Given the description of an element on the screen output the (x, y) to click on. 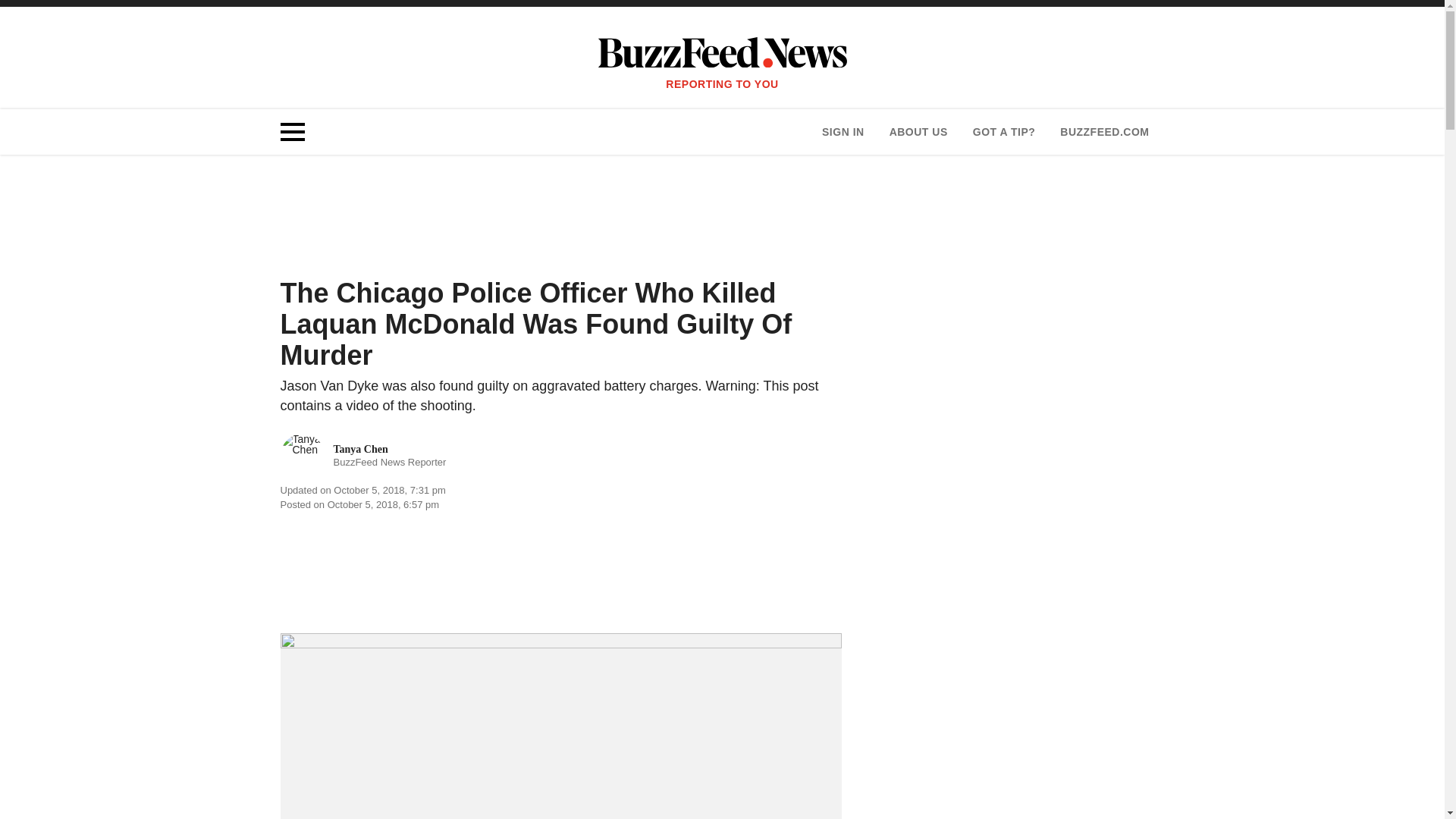
SIGN IN (842, 131)
GOT A TIP? (1003, 131)
ABOUT US (917, 131)
BUZZFEED.COM (1103, 131)
